Given the description of an element on the screen output the (x, y) to click on. 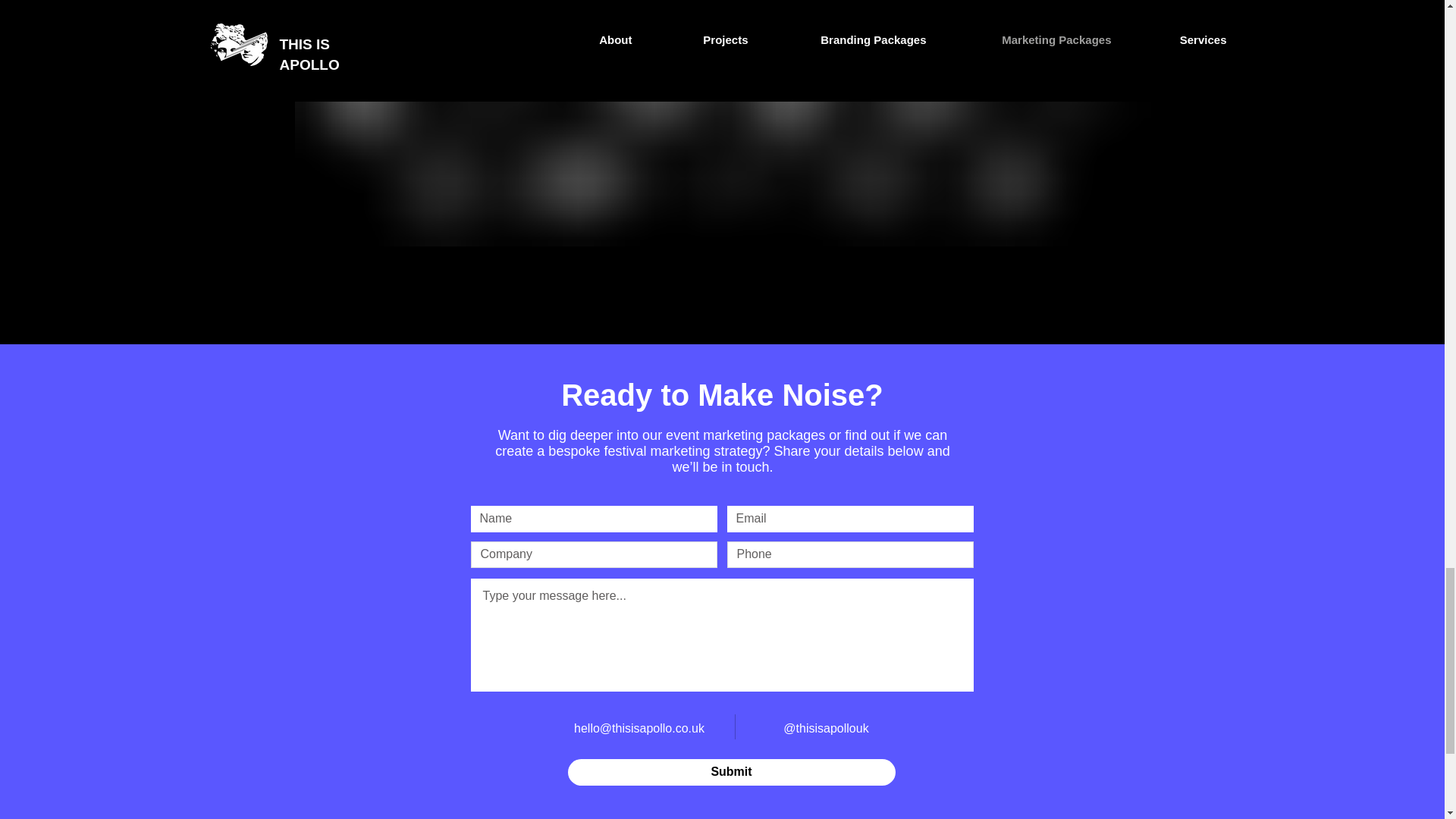
Submit (731, 772)
